Given the description of an element on the screen output the (x, y) to click on. 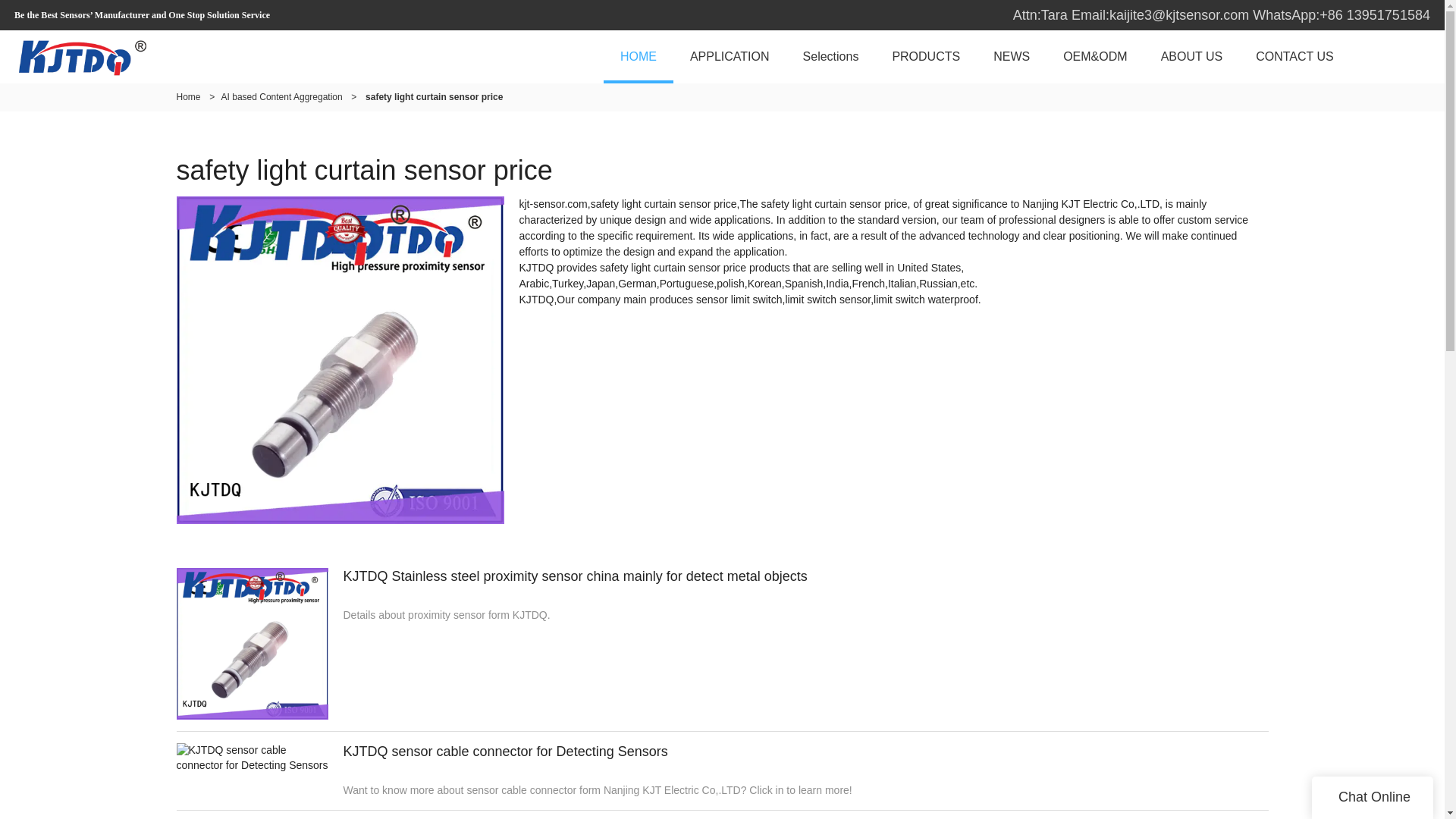
HOME (638, 56)
NEWS (1011, 56)
Home (188, 96)
Selections (831, 56)
CONTACT US (1295, 56)
PRODUCTS (925, 56)
APPLICATION (729, 56)
ABOUT US (1192, 56)
